Given the description of an element on the screen output the (x, y) to click on. 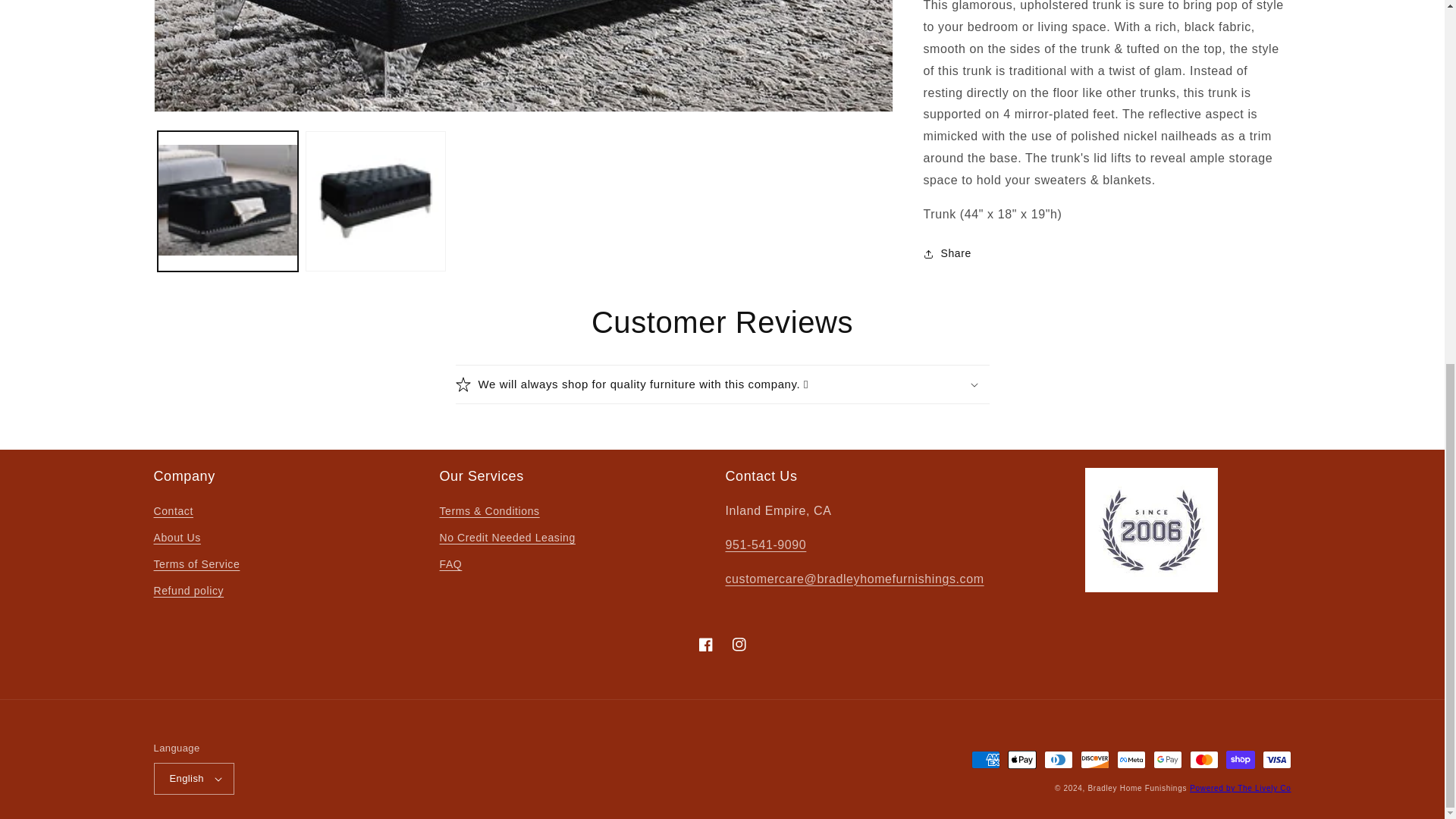
tel:951-541-9090 (765, 544)
